Given the description of an element on the screen output the (x, y) to click on. 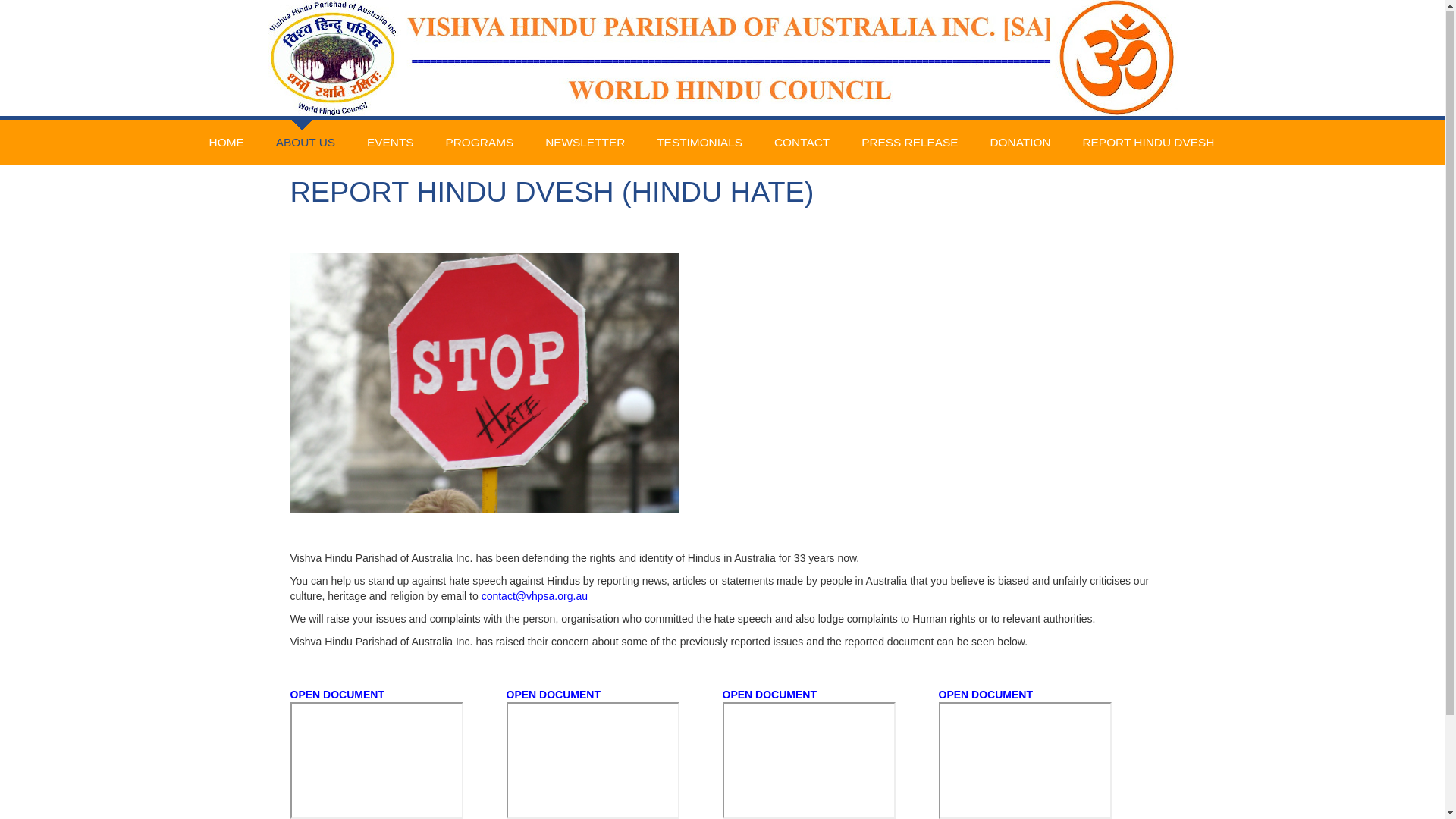
OPEN DOCUMENT Element type: text (768, 695)
ABOUT US Element type: text (305, 127)
TESTIMONIALS Element type: text (699, 143)
OPEN DOCUMENT Element type: text (553, 695)
contact@vhpsa.org.au Element type: text (534, 596)
REPORT HINDU DVESH Element type: text (1147, 143)
PROGRAMS Element type: text (479, 143)
NEWSLETTER Element type: text (584, 143)
CONTACT Element type: text (801, 143)
HOME Element type: text (226, 143)
DONATION Element type: text (1019, 143)
OPEN DOCUMENT Element type: text (985, 695)
EVENTS Element type: text (390, 143)
PRESS RELEASE Element type: text (909, 143)
OPEN DOCUMENT Element type: text (336, 695)
